Given the description of an element on the screen output the (x, y) to click on. 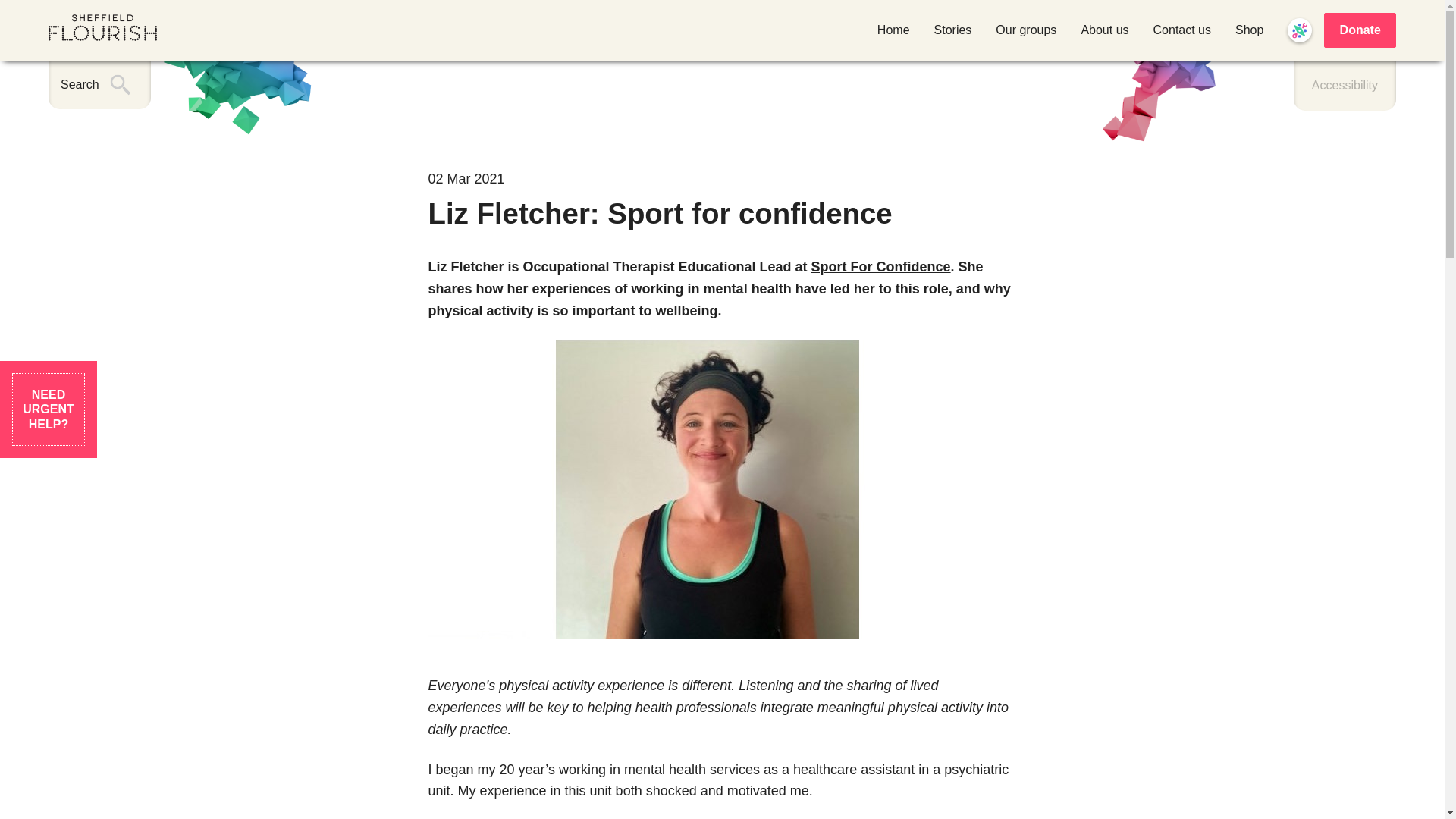
About us (1104, 29)
Shop (1248, 29)
Our groups (1026, 29)
Donate (1359, 30)
Home (893, 29)
Try out our mental health toolkit (1299, 30)
Accessibility (1345, 85)
Contact us (1182, 29)
Stories (953, 29)
Sport For Confidence (880, 266)
